Given the description of an element on the screen output the (x, y) to click on. 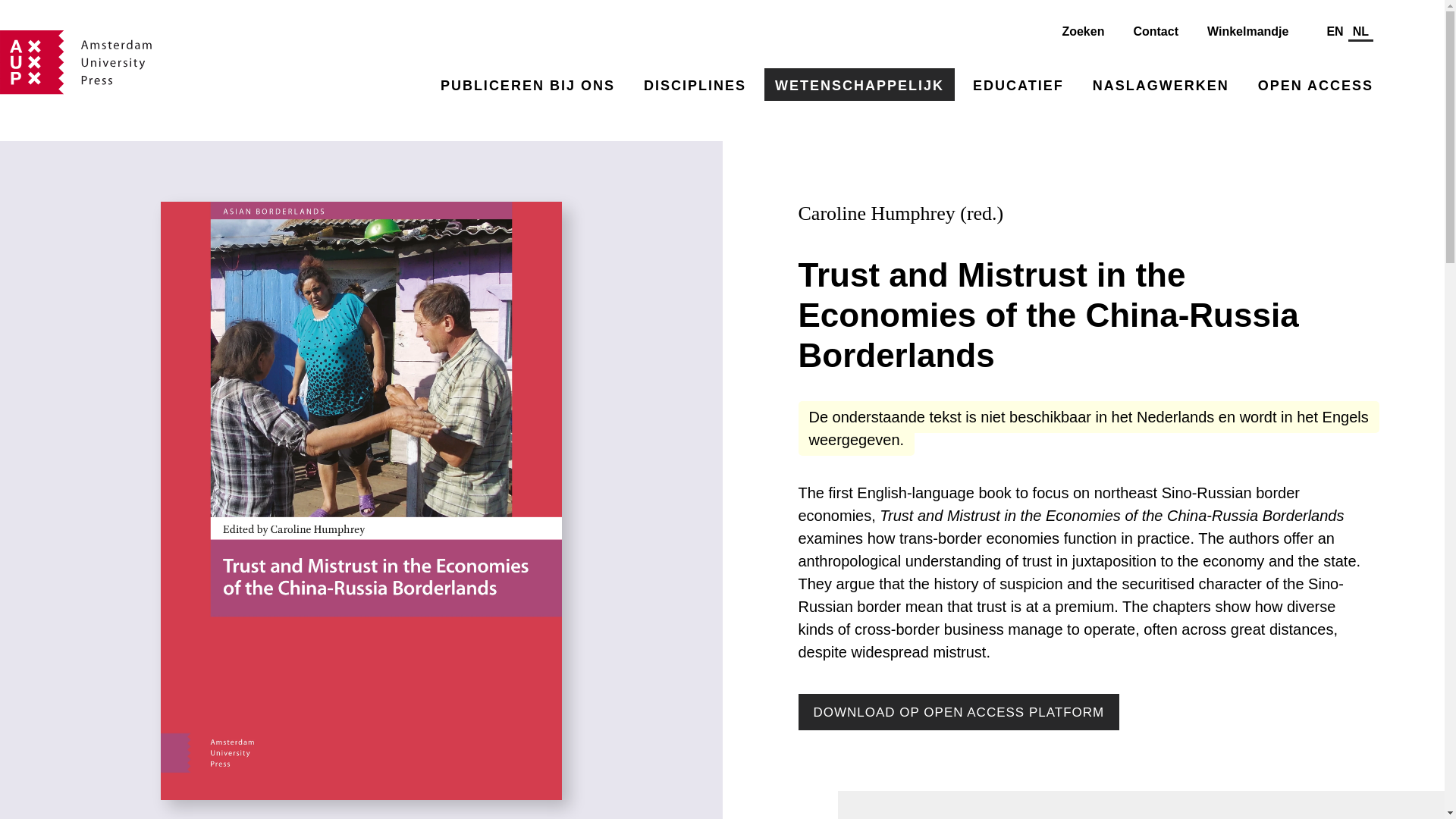
EDUCATIEF (1018, 83)
NASLAGWERKEN (1160, 83)
WETENSCHAPPELIJK (859, 83)
Amsterdam University Press (75, 62)
DISCIPLINES (695, 83)
PUBLICEREN BIJ ONS (527, 83)
